Given the description of an element on the screen output the (x, y) to click on. 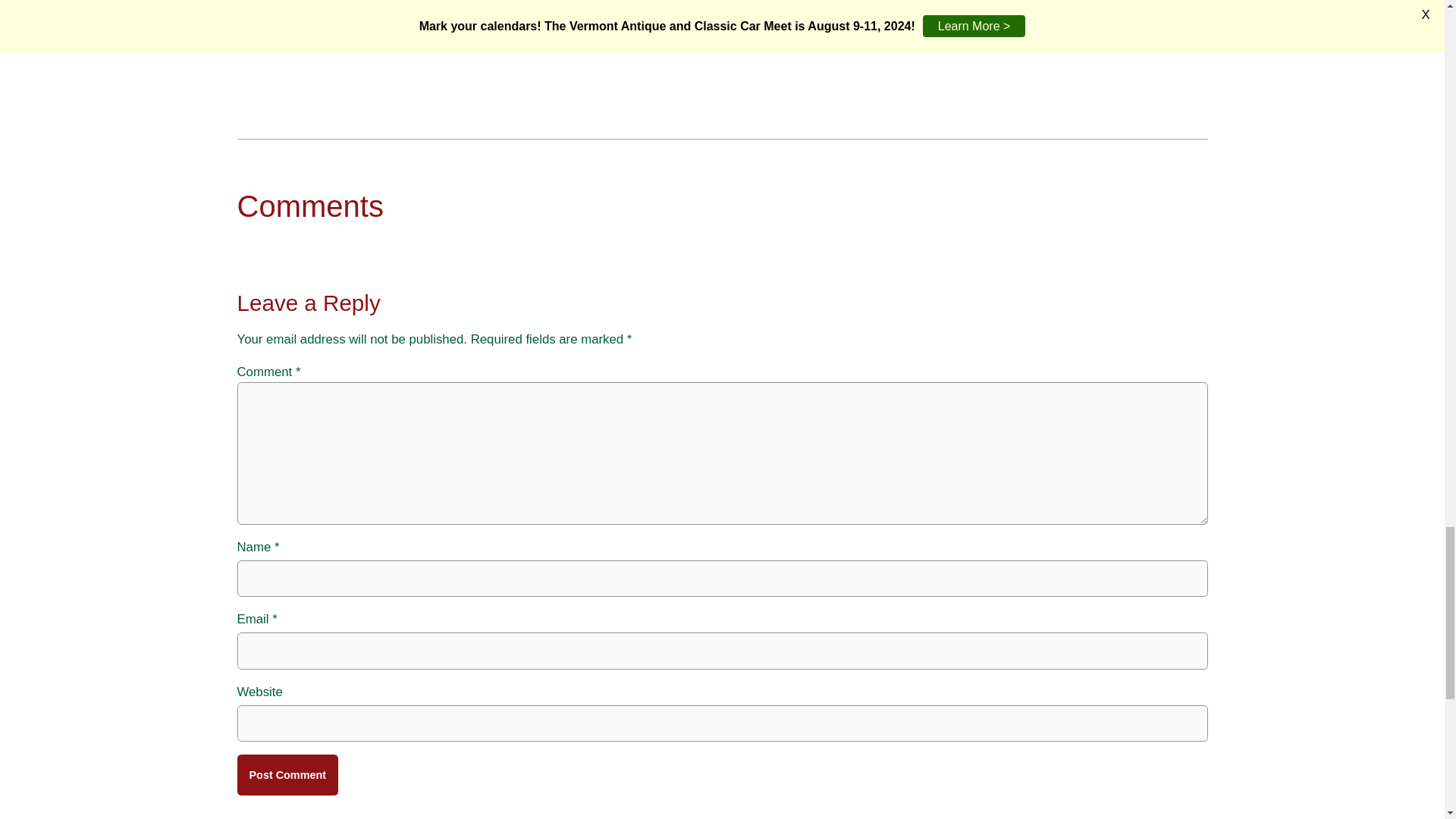
Post Comment (286, 774)
